Given the description of an element on the screen output the (x, y) to click on. 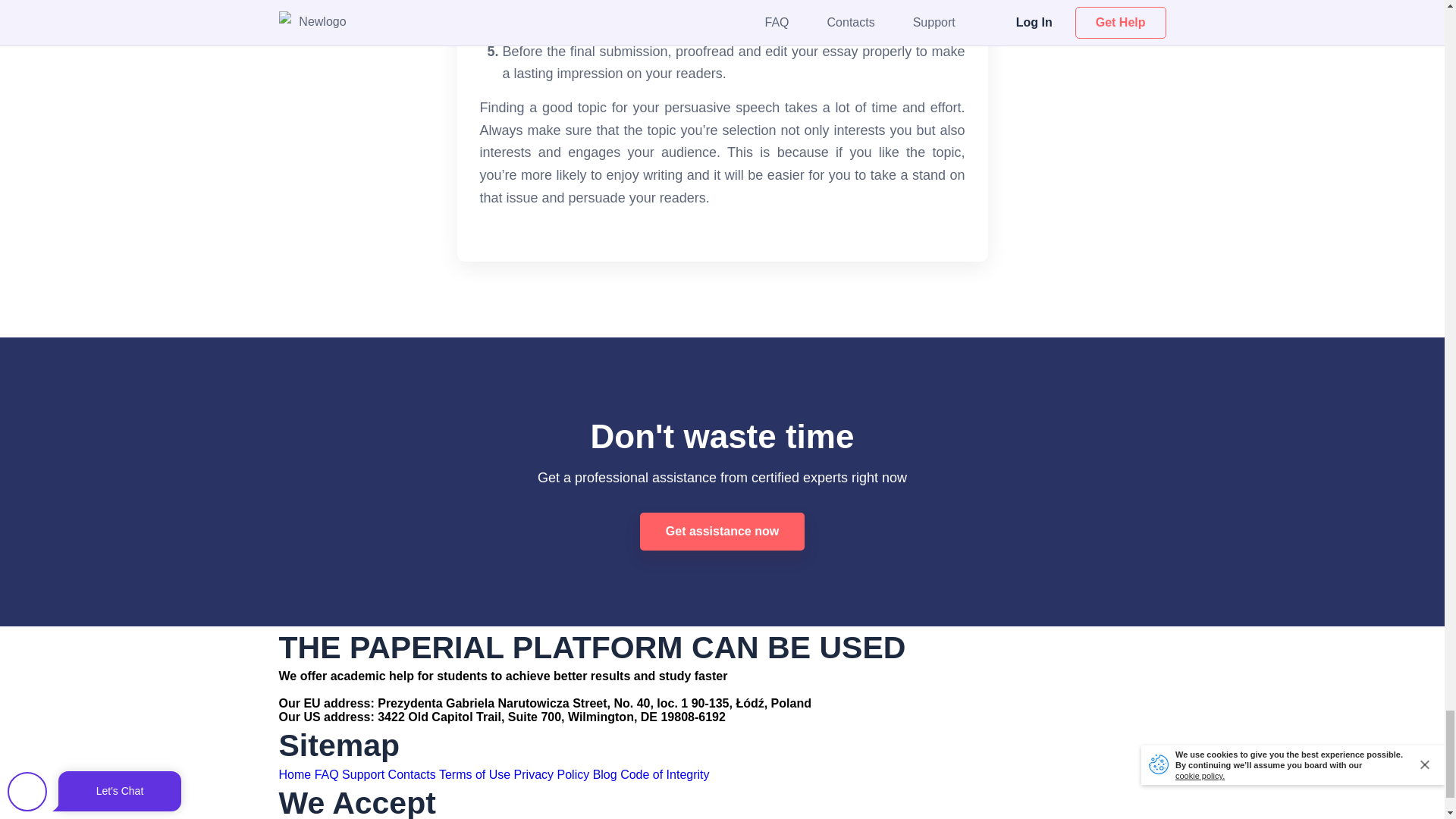
Home (295, 774)
Contacts (411, 774)
Support (363, 774)
Code of Integrity (664, 774)
Privacy Policy (551, 774)
FAQ (326, 774)
Terms of Use (475, 774)
Blog (604, 774)
Get assistance now (722, 531)
